Given the description of an element on the screen output the (x, y) to click on. 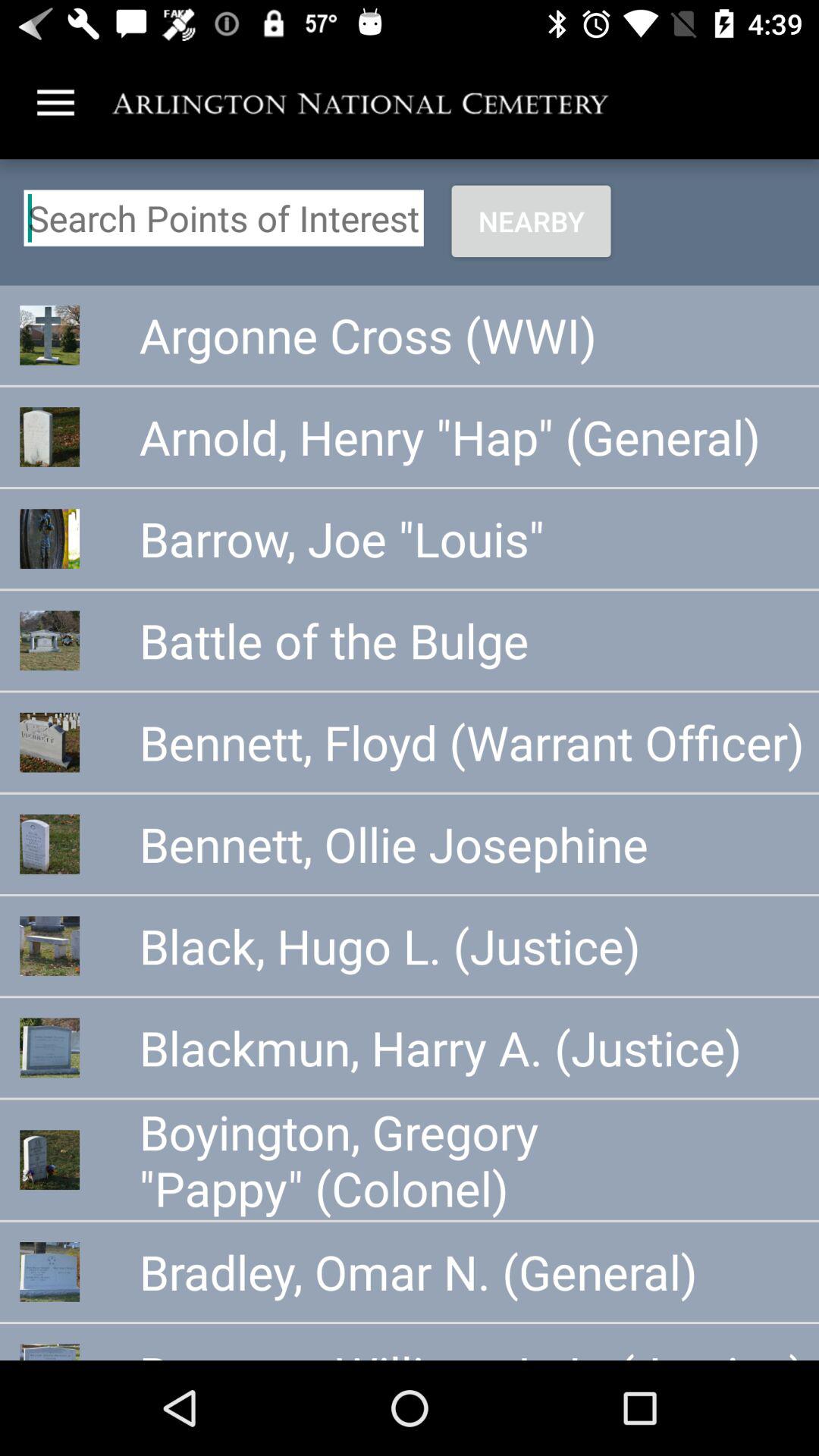
points of interest search terms field (223, 217)
